Given the description of an element on the screen output the (x, y) to click on. 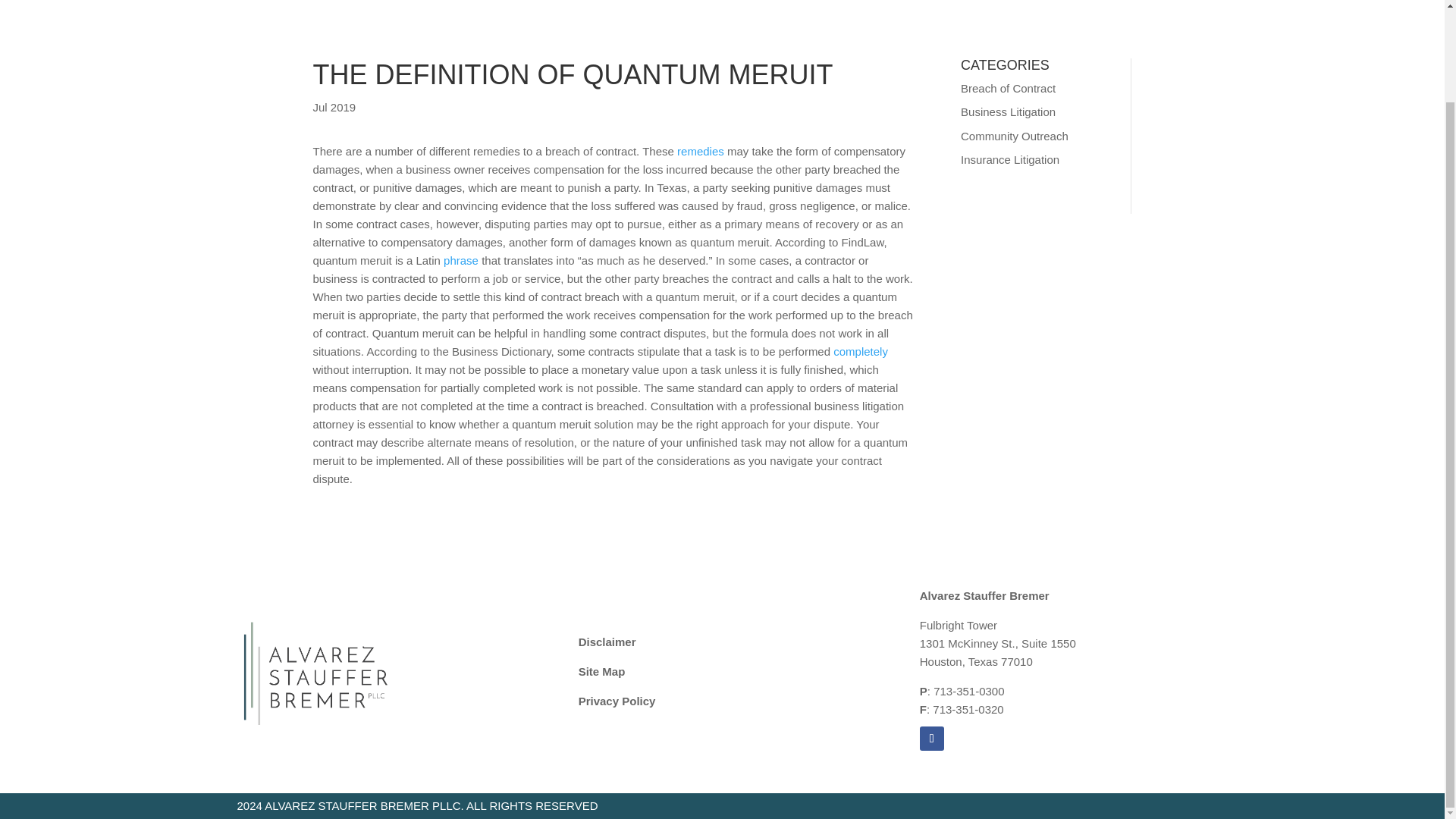
ASB-Logo---regular-font---transparent-background (316, 671)
Follow on Facebook (931, 738)
